Given the description of an element on the screen output the (x, y) to click on. 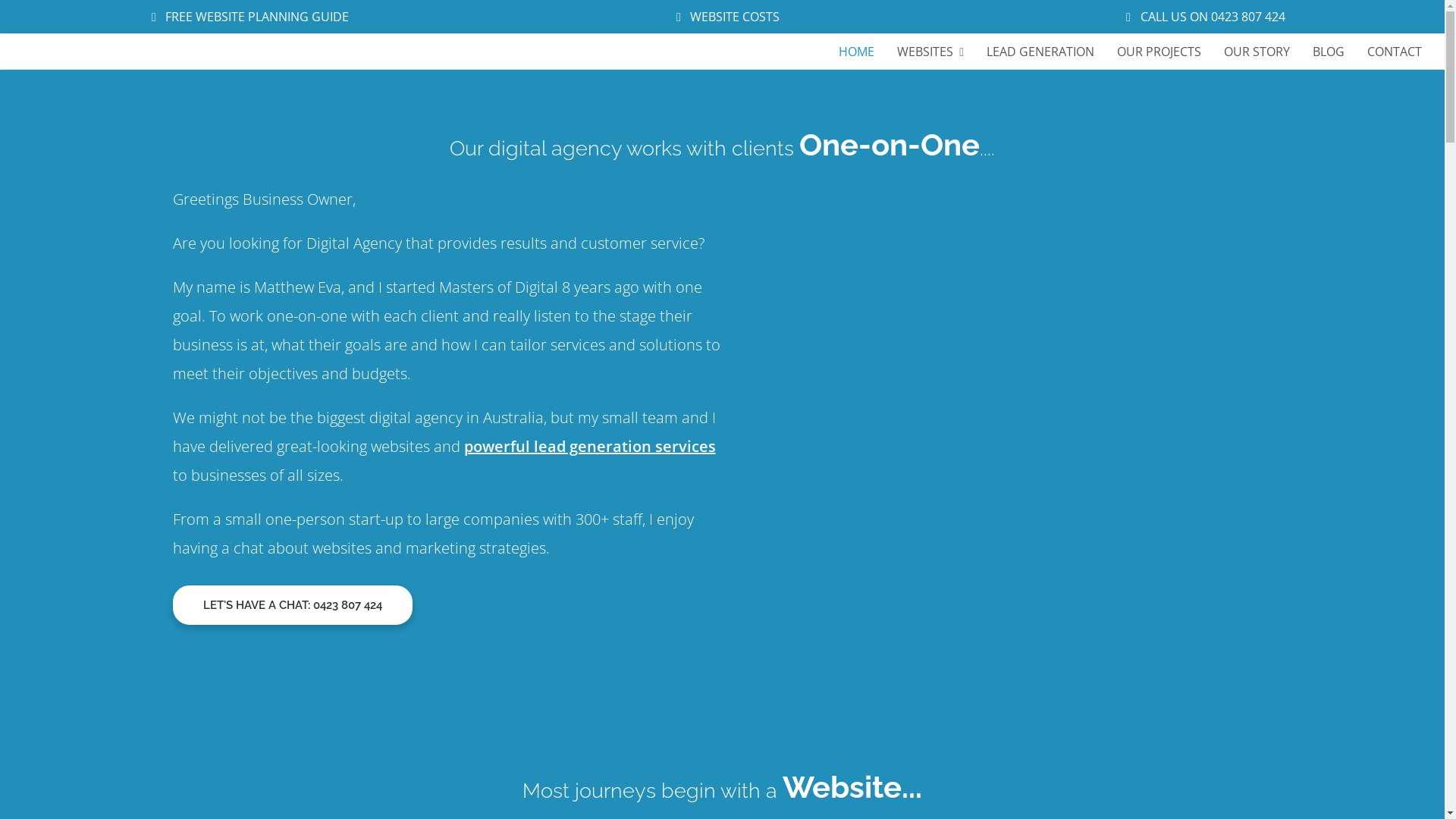
powerful lead generation services Element type: text (589, 446)
LET'S HAVE A CHAT: 0423 807 424 Element type: text (292, 604)
WEBSITES Element type: text (930, 51)
LEAD GENERATION Element type: text (1040, 51)
WEBSITE COSTS Element type: text (728, 16)
HOME Element type: text (856, 51)
CONTACT Element type: text (1394, 51)
CALL US ON 0423 807 424 Element type: text (1205, 16)
OUR STORY Element type: text (1256, 51)
OUR PROJECTS Element type: text (1158, 51)
FREE WEBSITE PLANNING GUIDE Element type: text (250, 16)
BLOG Element type: text (1328, 51)
